Given the description of an element on the screen output the (x, y) to click on. 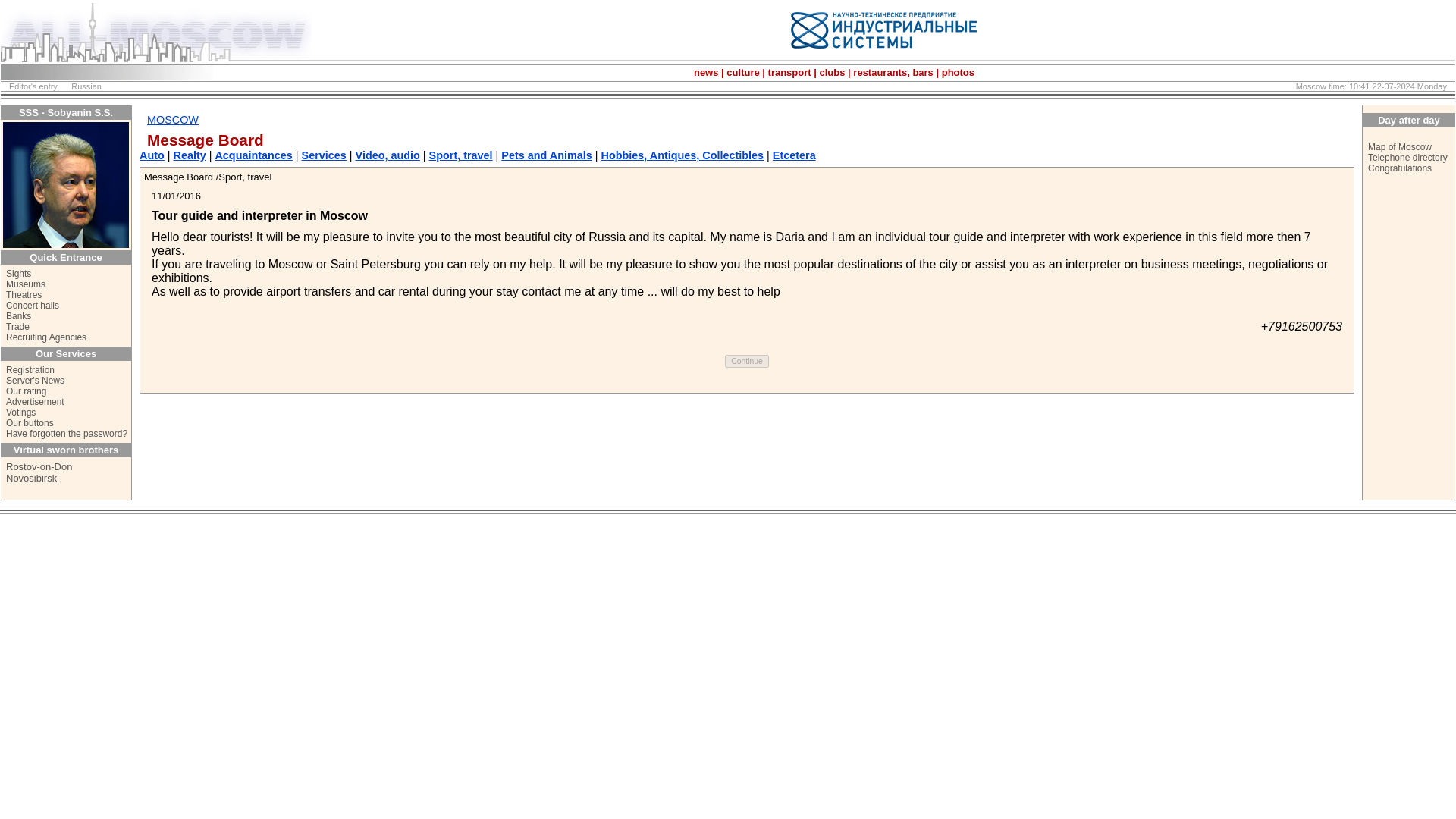
Trade (17, 326)
Banks (17, 316)
Etcetera (794, 155)
Theatres (23, 294)
Registration (30, 369)
Editor's entry (33, 85)
Continue (746, 360)
news (706, 71)
news (706, 71)
Server's News (34, 380)
Acquaintances (253, 155)
Realty (189, 155)
Advertisement (34, 401)
Sights (17, 273)
Have forgotten the password? (66, 433)
